Given the description of an element on the screen output the (x, y) to click on. 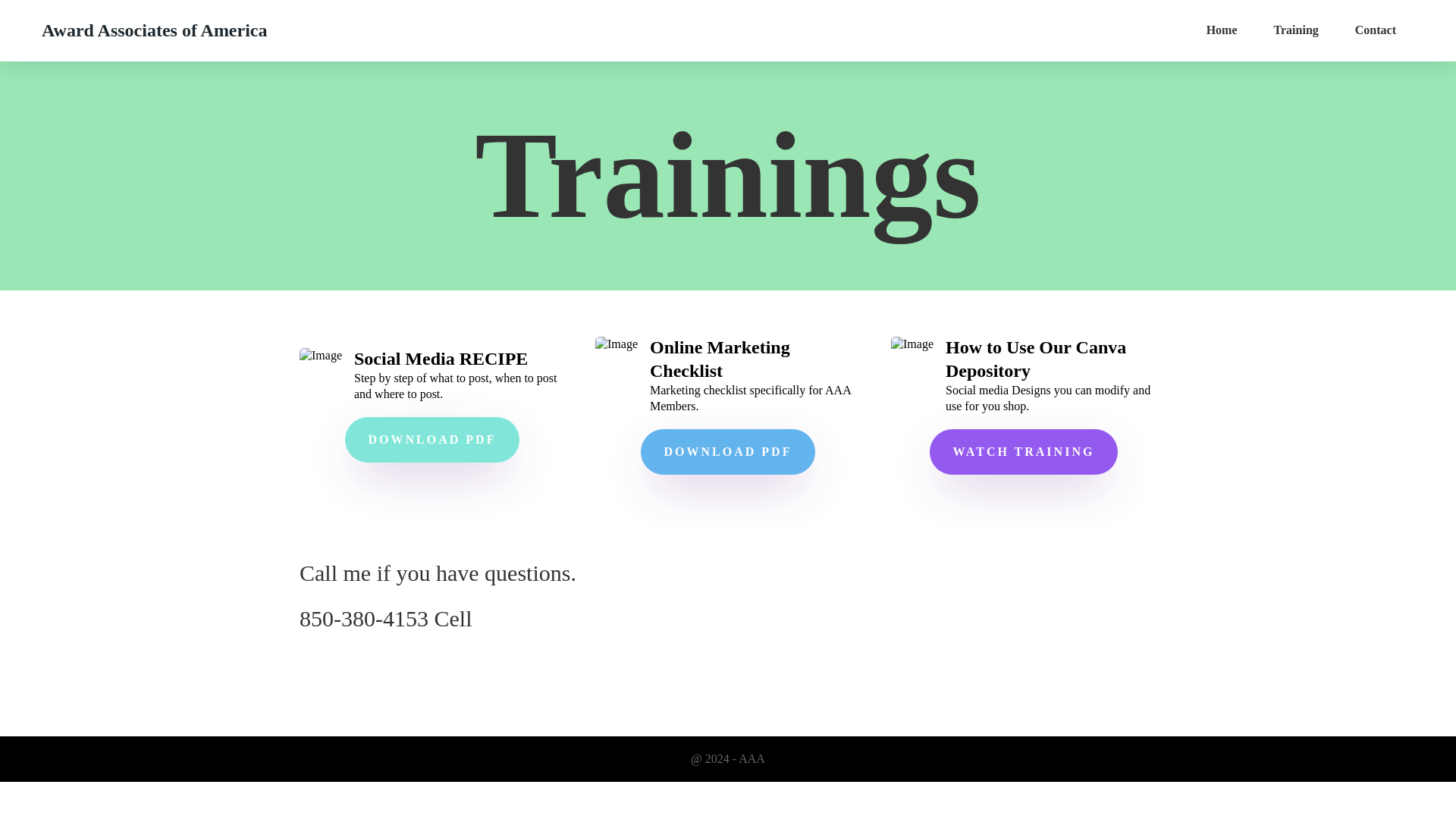
Home (1221, 30)
DOWNLOAD PDF (432, 439)
Training (1295, 30)
Contact (1374, 30)
WATCH TRAINING (1024, 452)
DOWNLOAD PDF (727, 452)
